Given the description of an element on the screen output the (x, y) to click on. 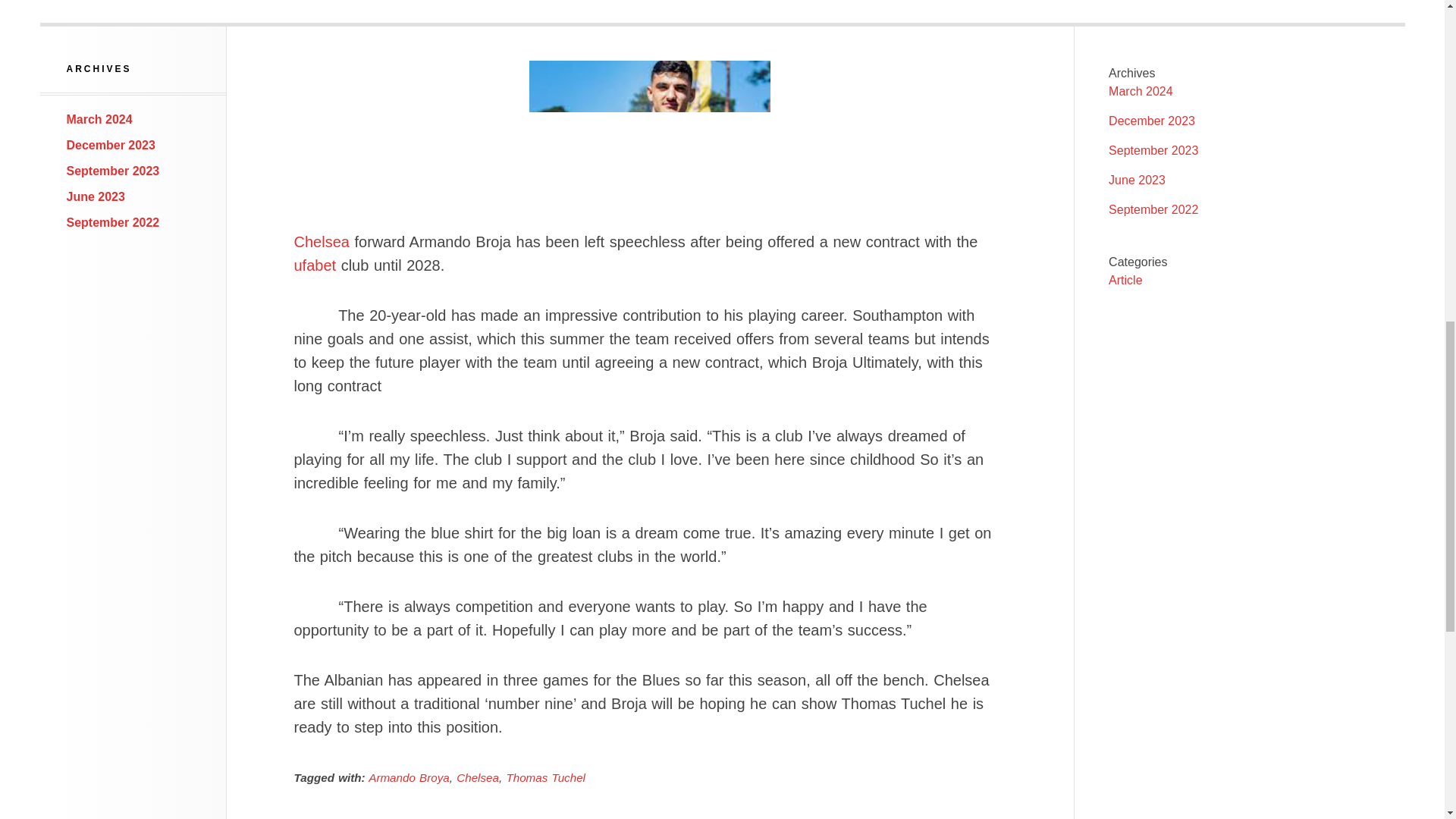
September 2022 (113, 222)
September 2023 (1153, 150)
Article (1124, 279)
March 2024 (1140, 91)
Chelsea (321, 241)
Armando Broya (408, 777)
December 2023 (1151, 120)
June 2023 (95, 196)
September 2023 (113, 170)
December 2023 (110, 144)
